Given the description of an element on the screen output the (x, y) to click on. 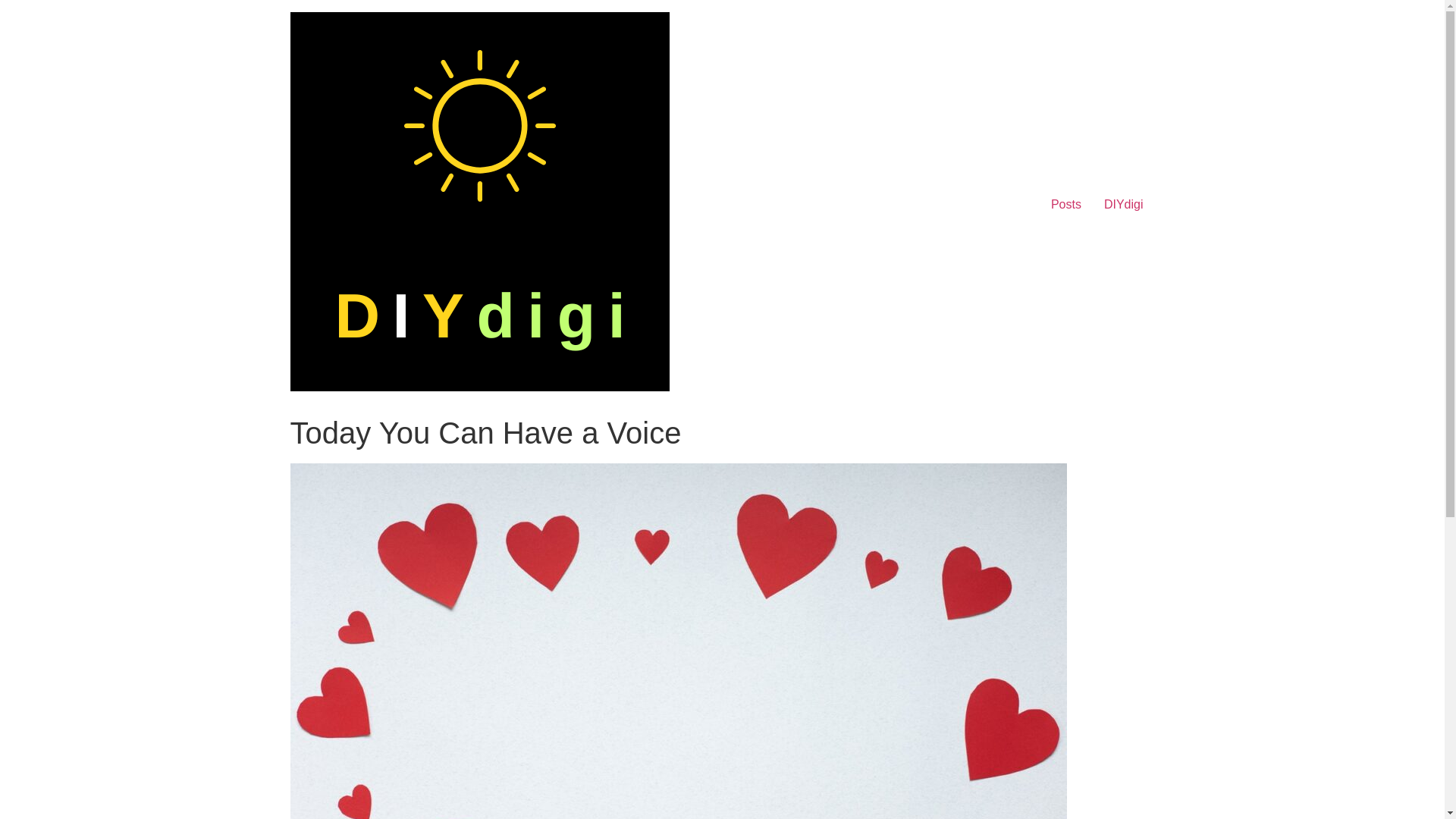
DIYdigi (1123, 204)
Posts (1066, 204)
